Given the description of an element on the screen output the (x, y) to click on. 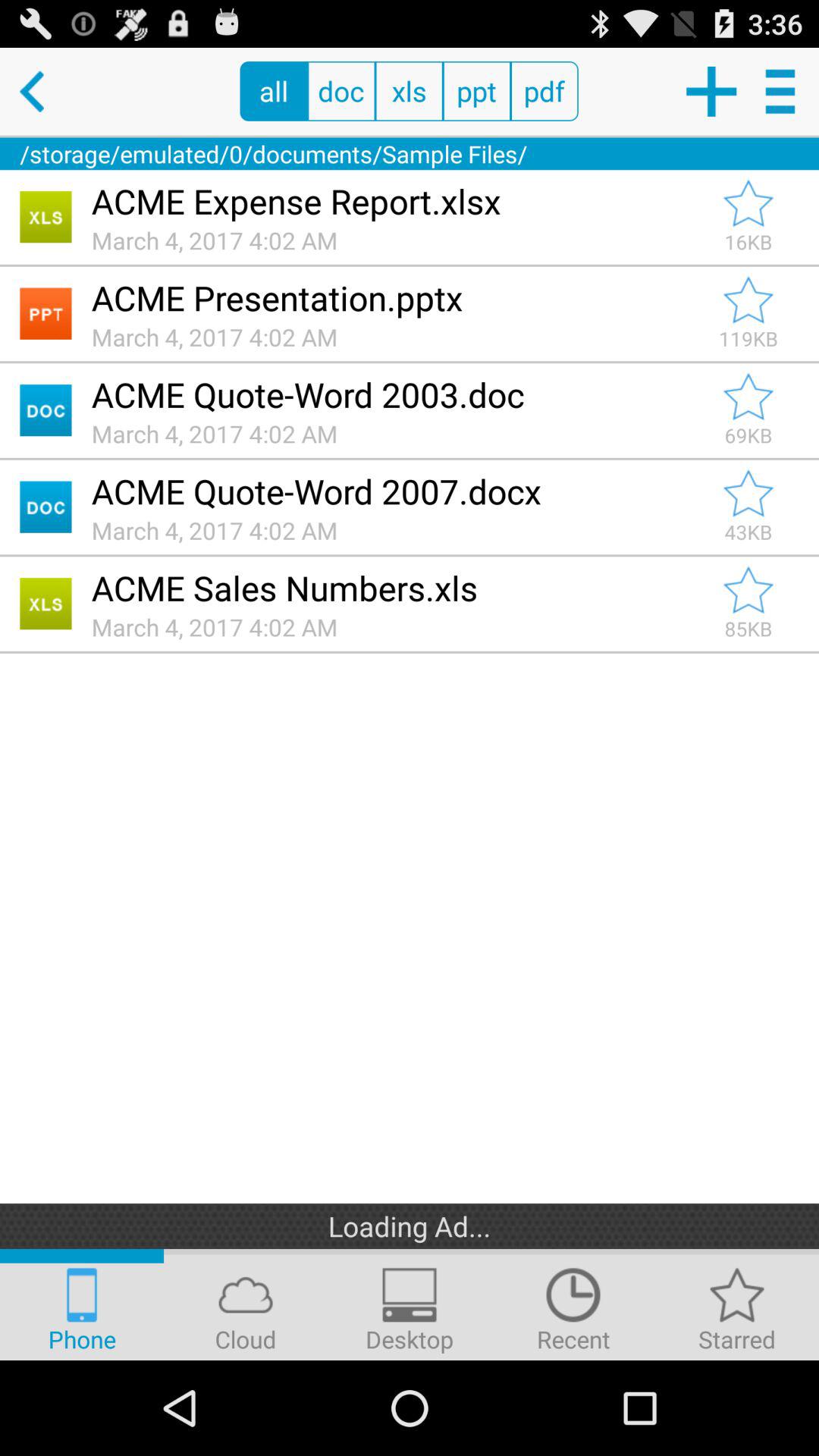
flip until the ppt radio button (476, 91)
